Given the description of an element on the screen output the (x, y) to click on. 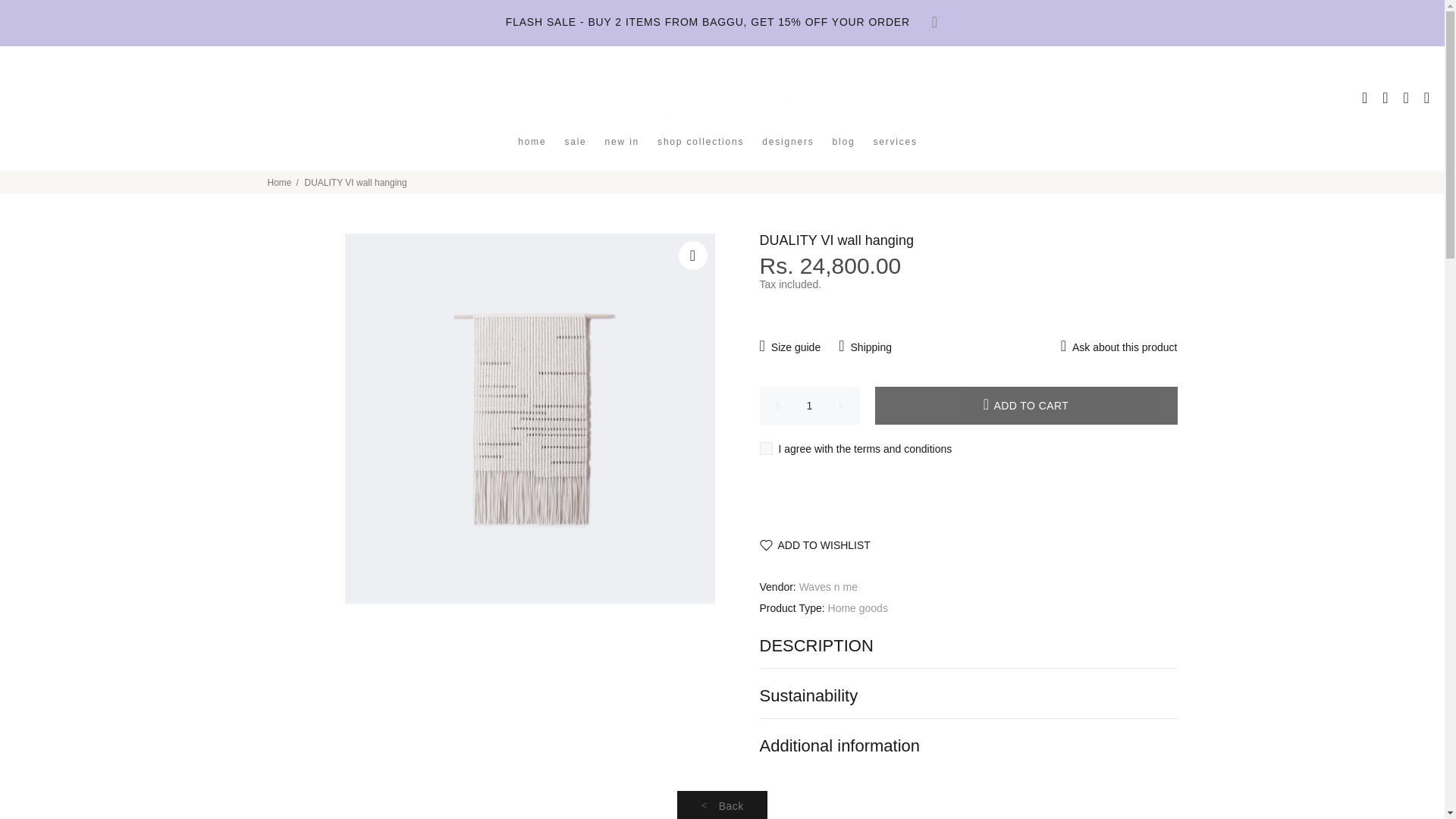
1 (810, 405)
